Given the description of an element on the screen output the (x, y) to click on. 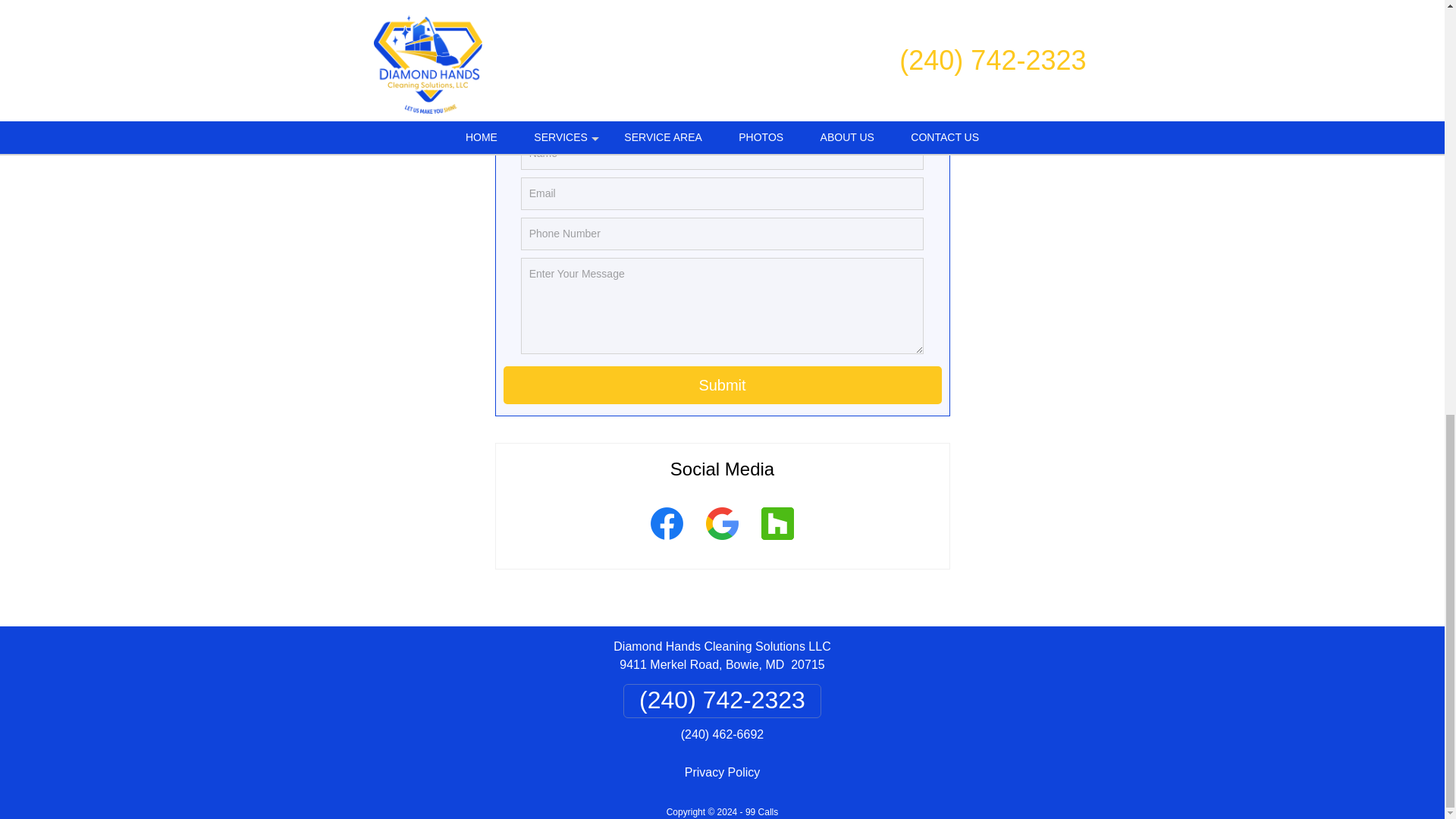
Privacy Policy (722, 771)
Google (721, 541)
Facebook (666, 541)
Submit (722, 385)
Houzz (777, 541)
